Given the description of an element on the screen output the (x, y) to click on. 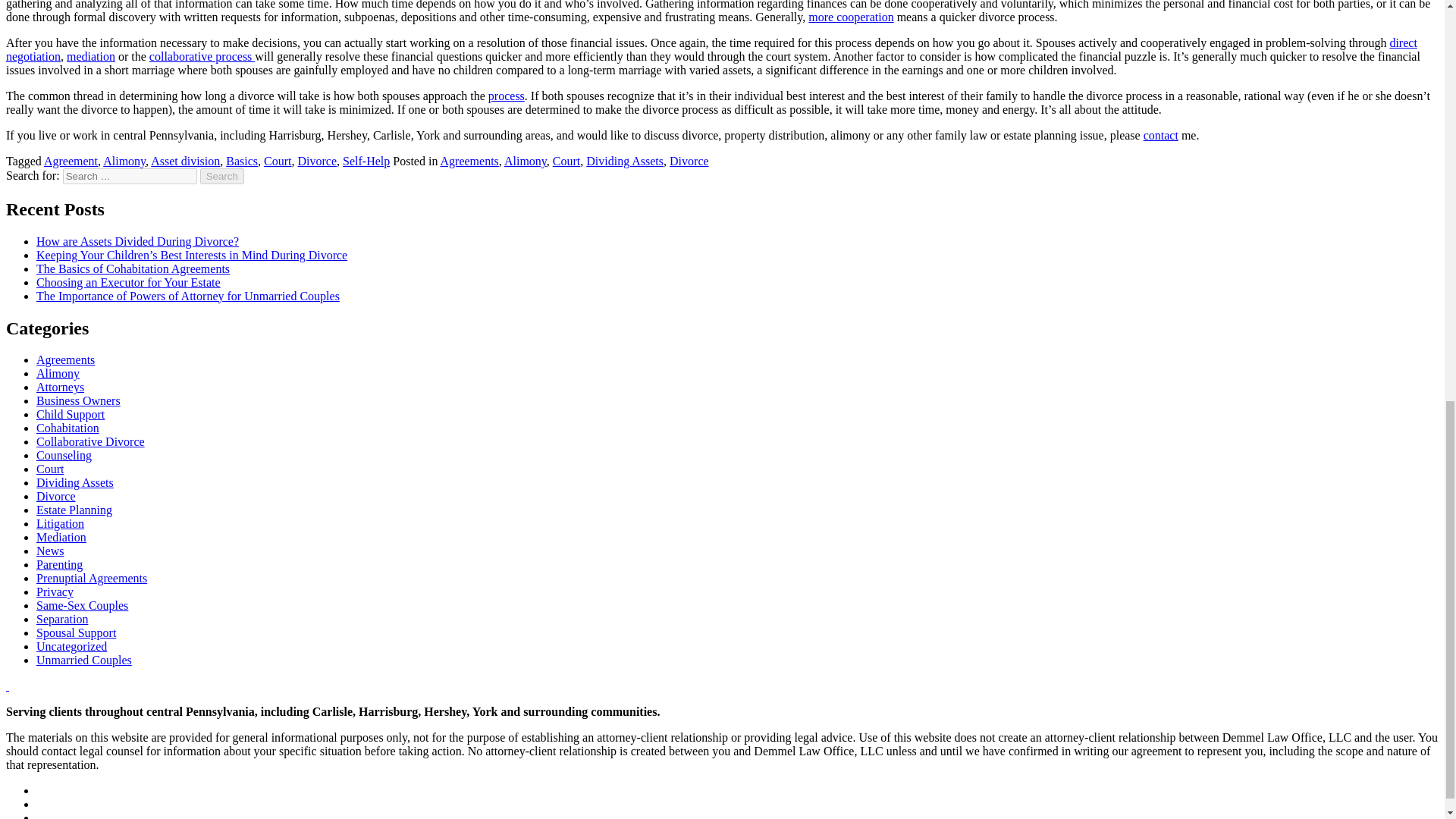
direct negotiation (710, 49)
collaborative process (202, 56)
Reaching an Agreement on Your Own (710, 49)
mediation (90, 56)
more cooperation (850, 16)
Why Worry About What My Spouse Needs (850, 16)
